Given the description of an element on the screen output the (x, y) to click on. 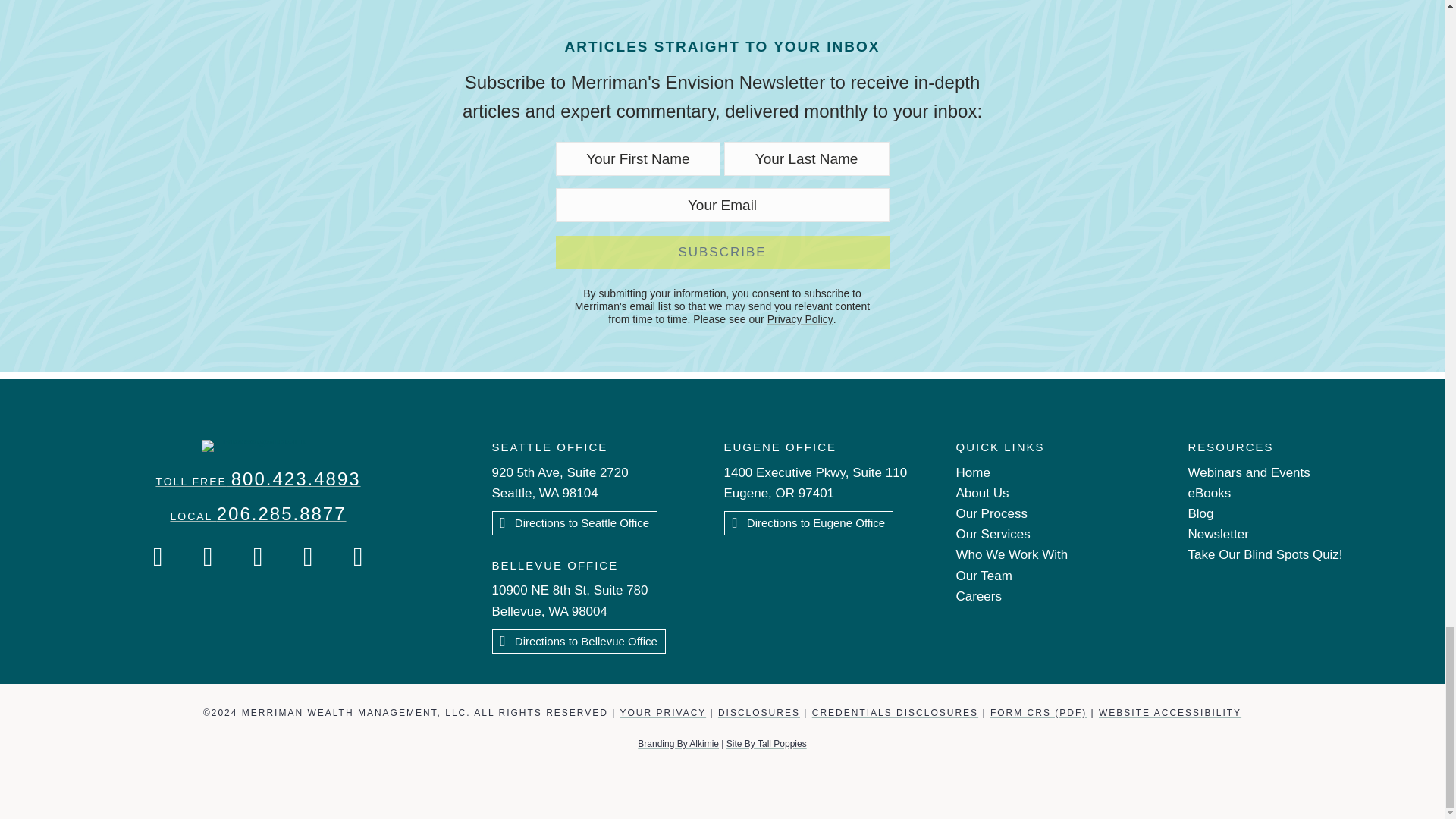
Merriman's Facebook Page (158, 556)
Subscribe (721, 252)
Merriman's LinkedIn (358, 556)
Merriman's YouTube Channel (308, 556)
Click Here (578, 641)
Merriman's Instagram Account (208, 556)
Click Here (808, 523)
Merriman's Twitter Account (259, 556)
Click Here (575, 523)
